Given the description of an element on the screen output the (x, y) to click on. 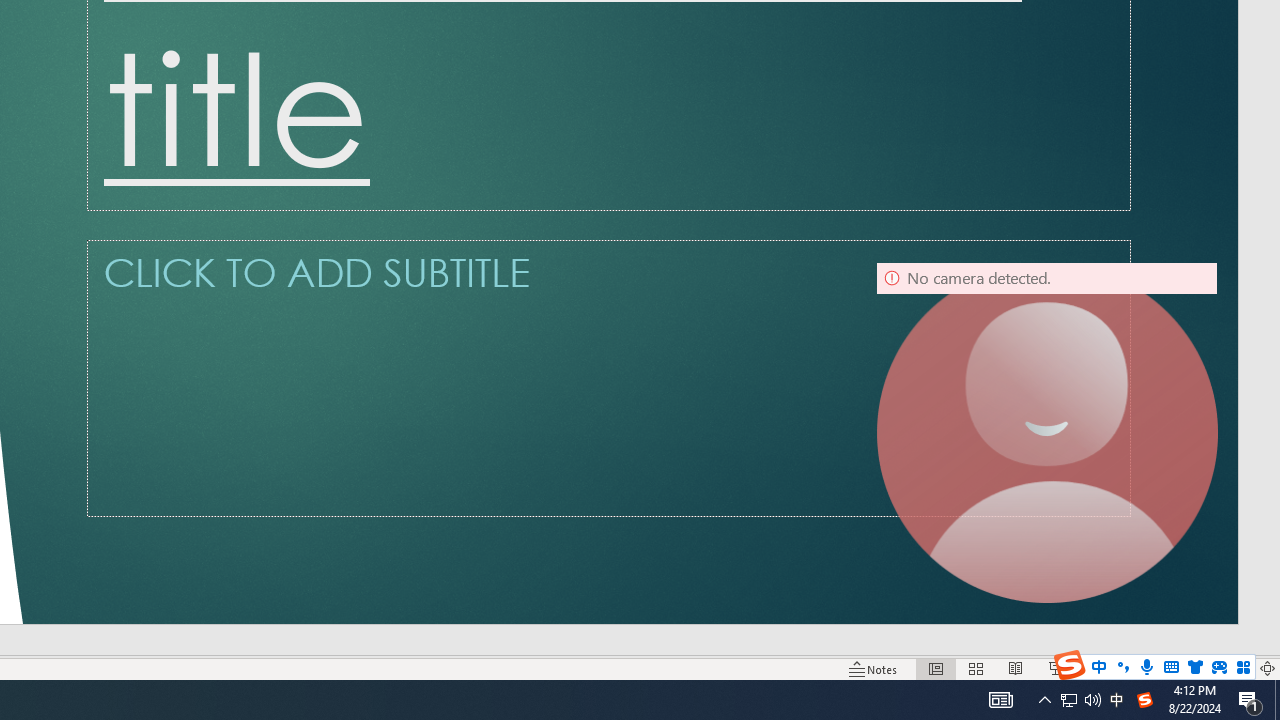
Zoom 161% (1234, 668)
